Given the description of an element on the screen output the (x, y) to click on. 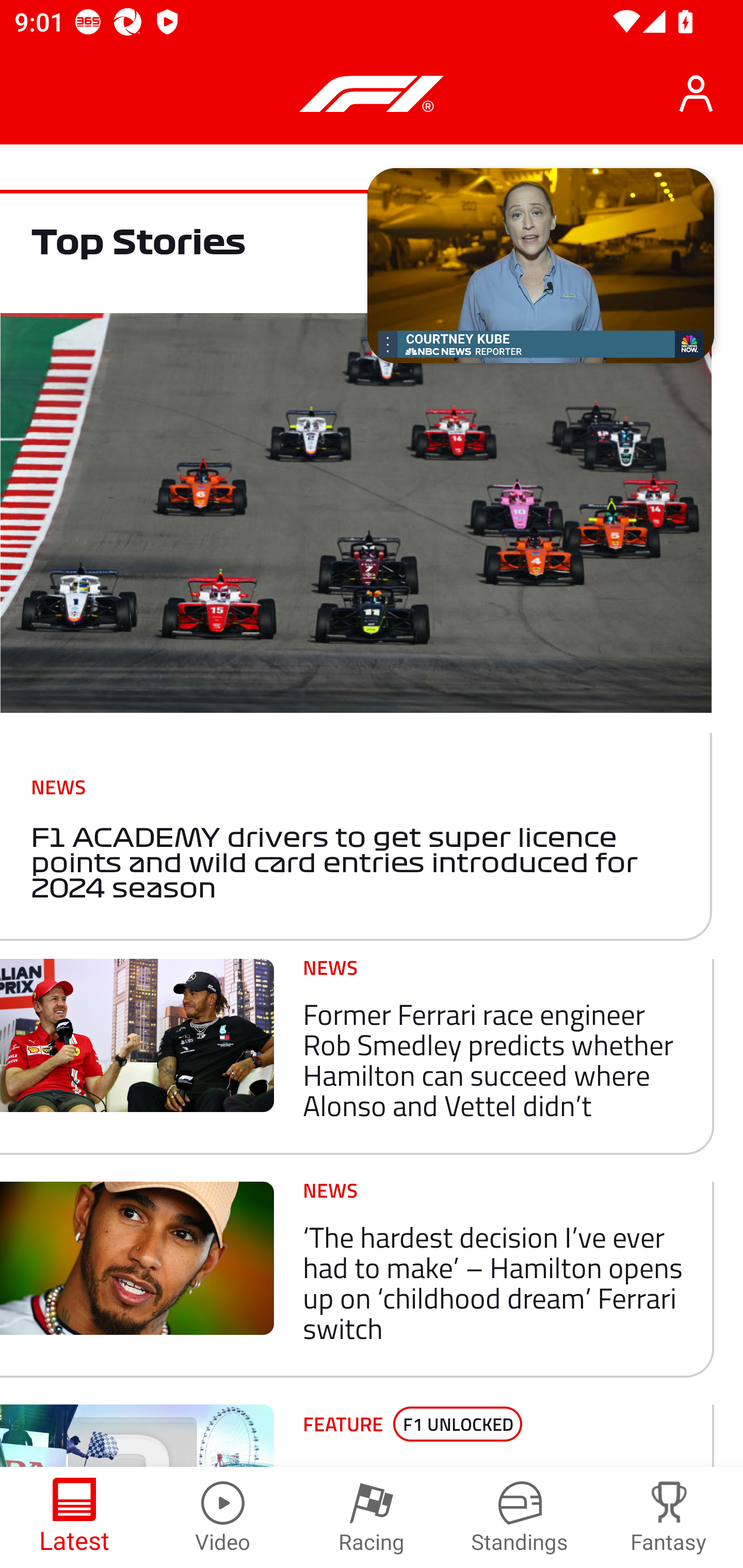
Video (222, 1517)
Racing (371, 1517)
Standings (519, 1517)
Fantasy (668, 1517)
